Given the description of an element on the screen output the (x, y) to click on. 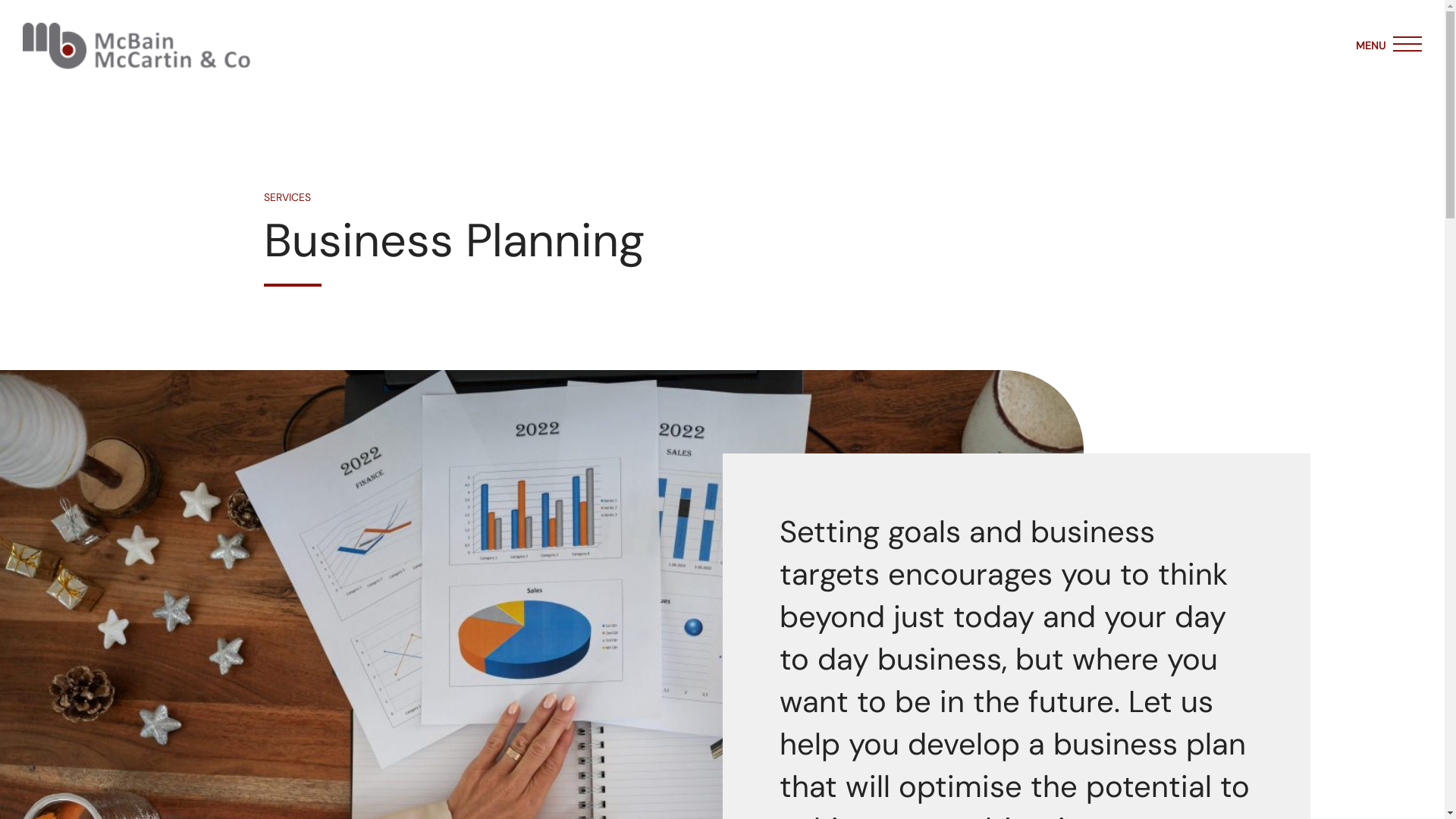
McBain McCartin &amp; Co Element type: hover (136, 45)
